Given the description of an element on the screen output the (x, y) to click on. 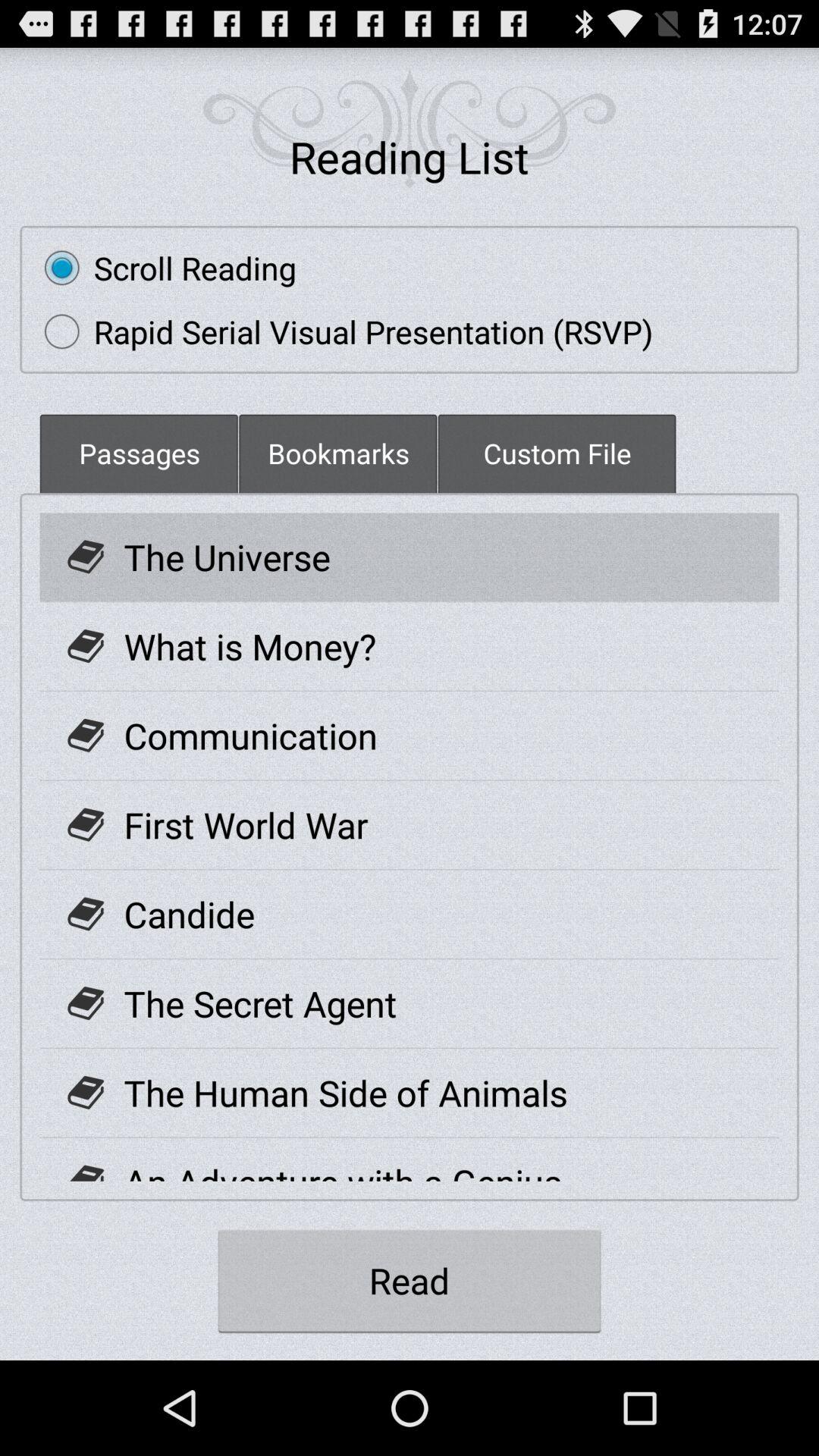
select the passages (138, 453)
